Given the description of an element on the screen output the (x, y) to click on. 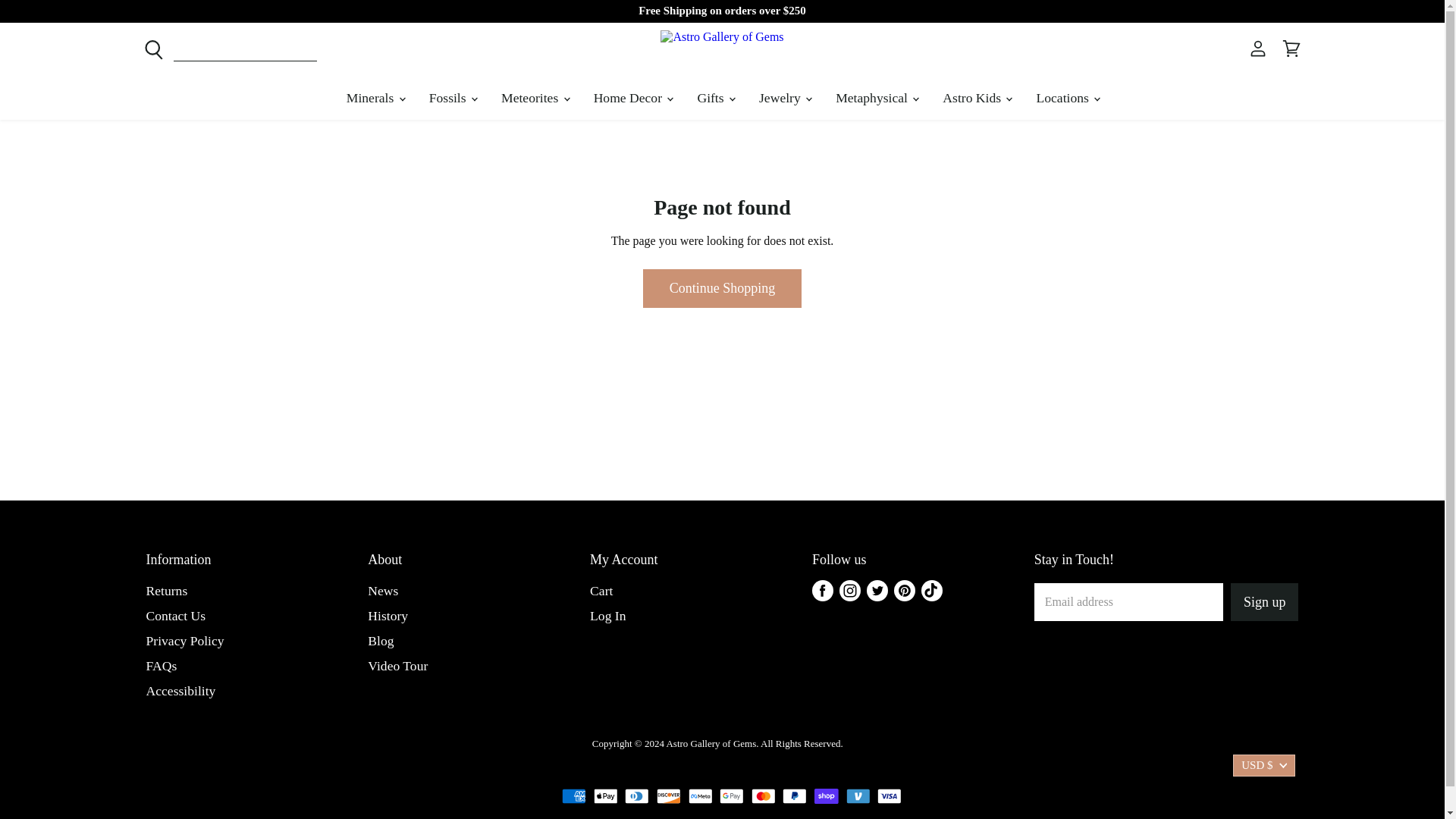
Minerals (374, 97)
Pinterest (904, 590)
View cart (1290, 48)
Meteorites (534, 97)
Fossils (451, 97)
View account (1257, 48)
Twitter (877, 590)
Tiktok (931, 590)
Home Decor (632, 97)
Facebook (822, 590)
Instagram (849, 590)
